Given the description of an element on the screen output the (x, y) to click on. 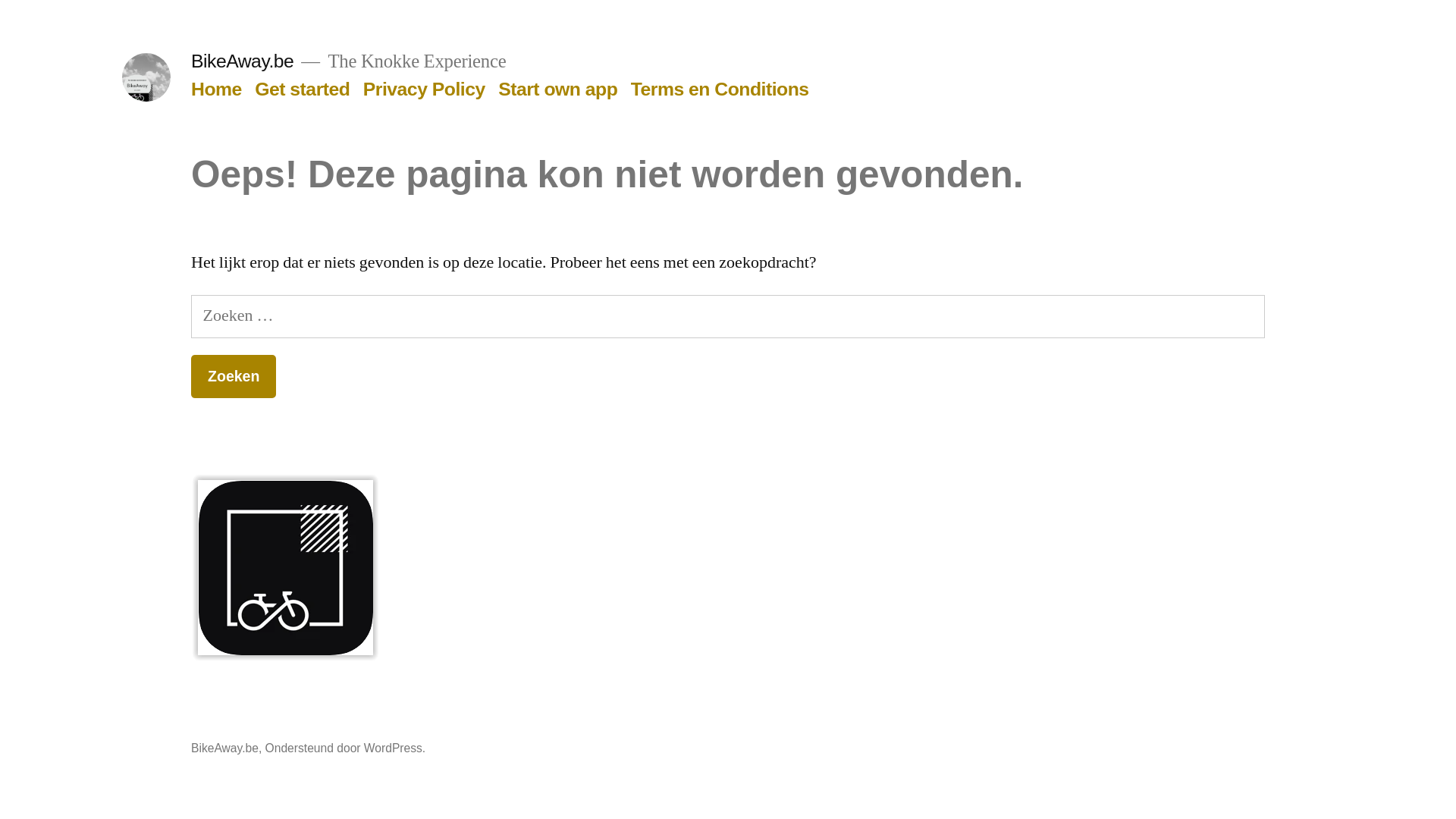
BikeAway.be Element type: text (224, 747)
Terms en Conditions Element type: text (719, 88)
Home Element type: text (216, 88)
Start own app Element type: text (557, 88)
Privacy Policy Element type: text (424, 88)
BikeAway.be Element type: text (242, 60)
Get started Element type: text (301, 88)
Ondersteund door WordPress. Element type: text (345, 747)
Zoeken Element type: text (233, 376)
